Given the description of an element on the screen output the (x, y) to click on. 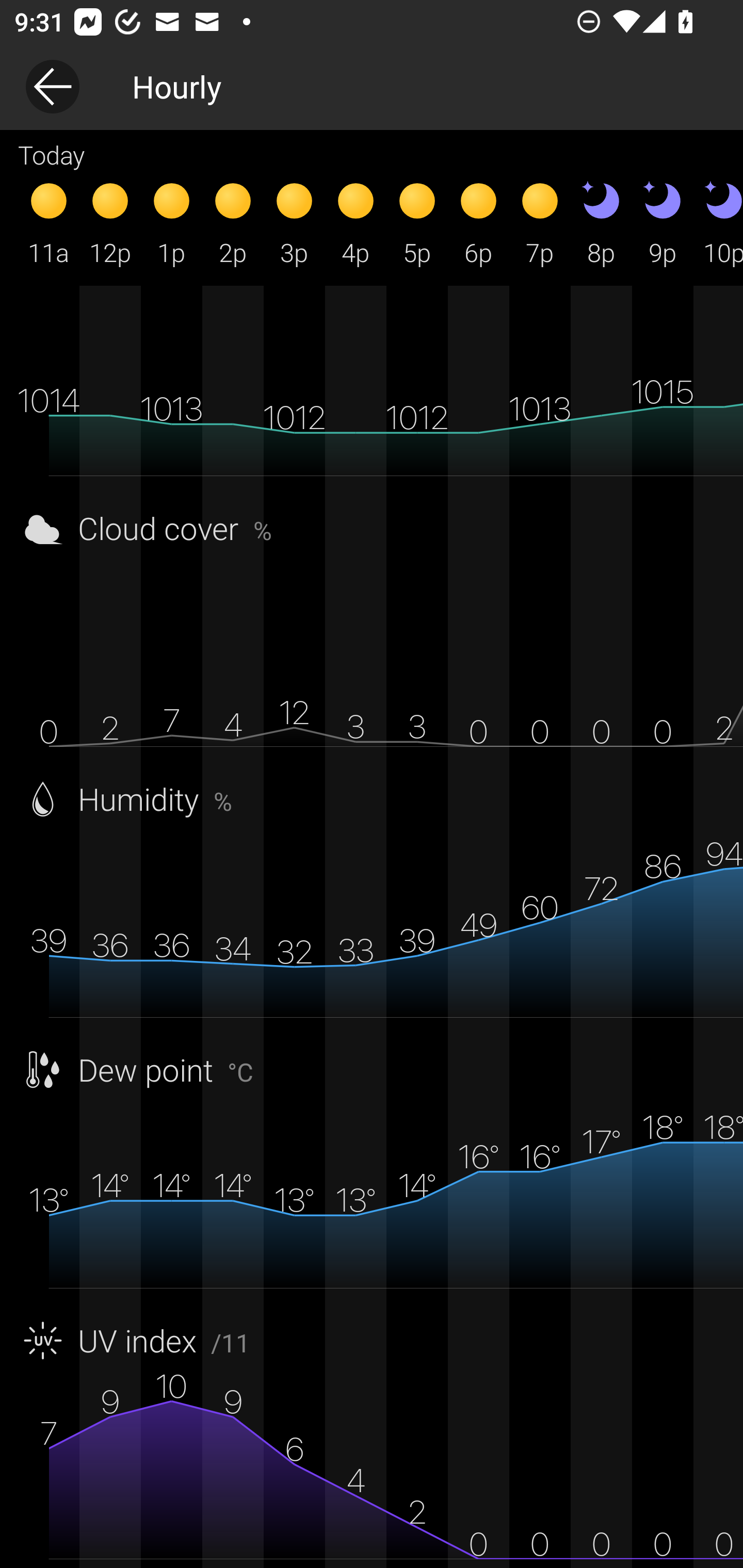
11a (48, 222)
12p (110, 222)
1p (171, 222)
2p (232, 222)
3p (294, 222)
4p (355, 222)
5p (417, 222)
6p (478, 222)
7p (539, 222)
8p (601, 222)
9p (662, 222)
10p (718, 222)
